Given the description of an element on the screen output the (x, y) to click on. 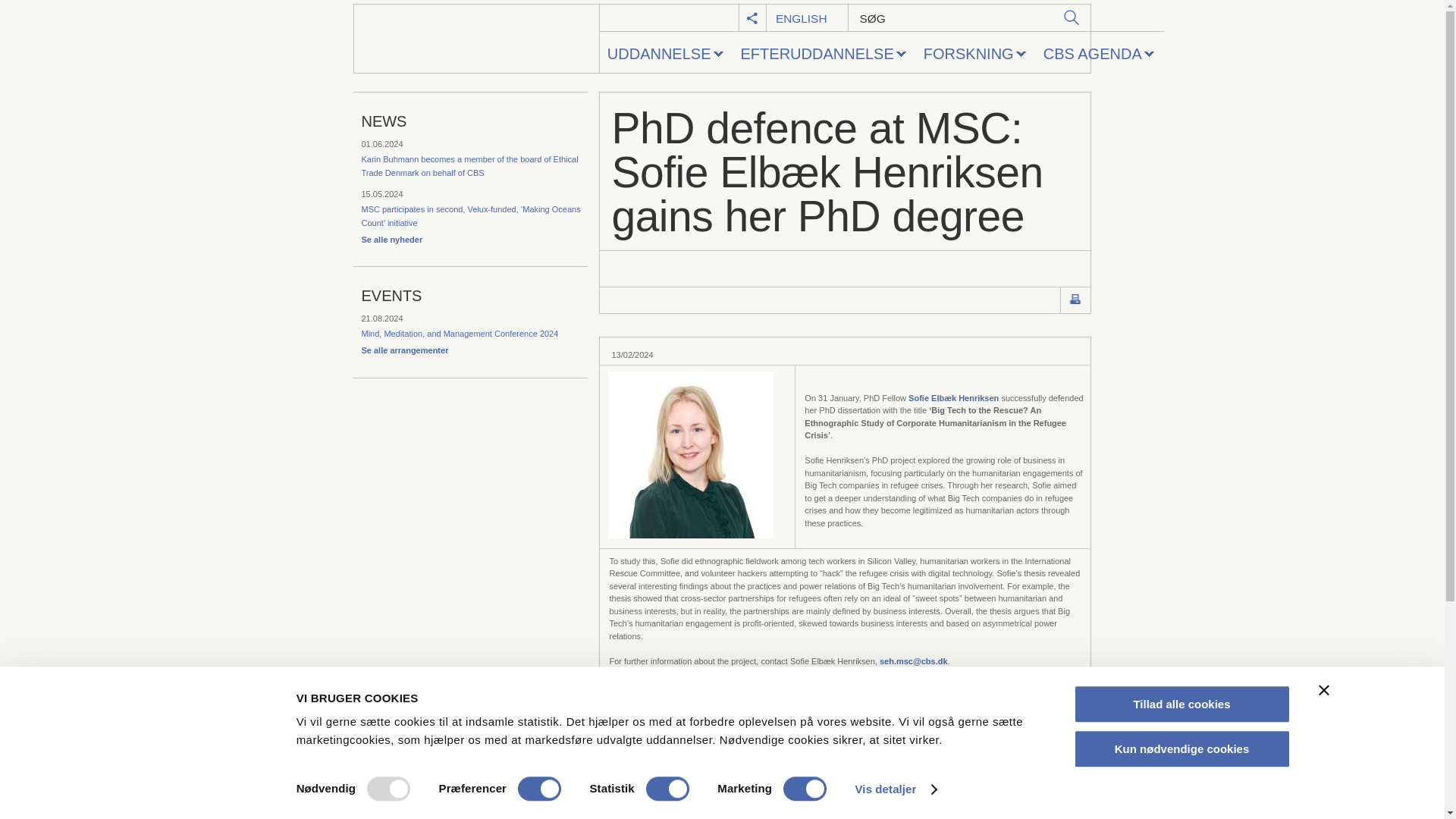
Vis detaljer (896, 789)
Tillad alle cookies (1182, 703)
Forside (475, 38)
